Given the description of an element on the screen output the (x, y) to click on. 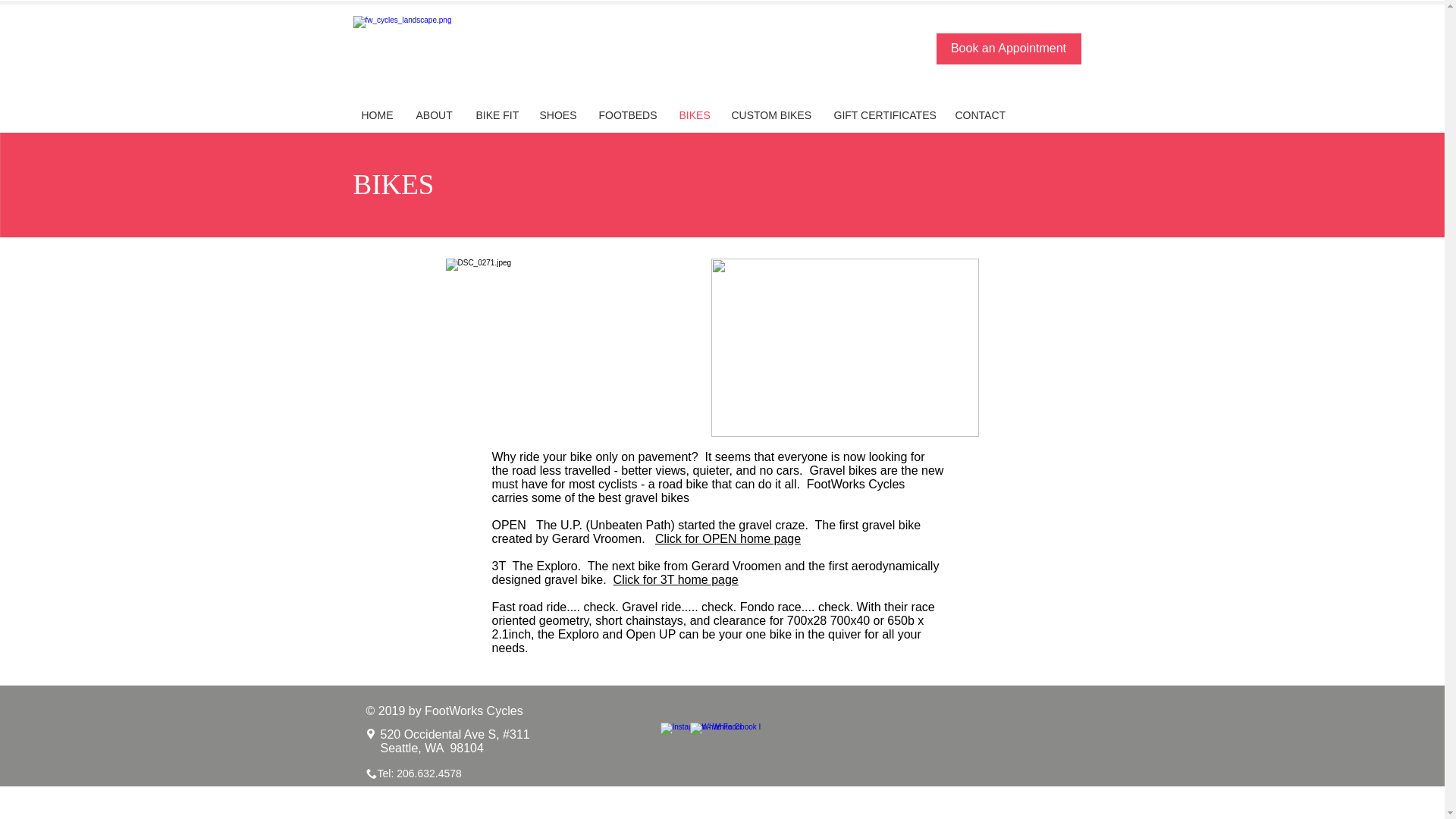
BIKE FIT (495, 114)
CUSTOM BIKES (771, 114)
SHOES (556, 114)
ABOUT (434, 114)
GIFT CERTIFICATES (882, 114)
BIKES (692, 114)
Book an Appointment (1008, 48)
FOOTBEDS (626, 114)
Click for 3T home page (675, 579)
Click for OPEN home page (727, 538)
HOME (377, 114)
CONTACT (980, 114)
